Given the description of an element on the screen output the (x, y) to click on. 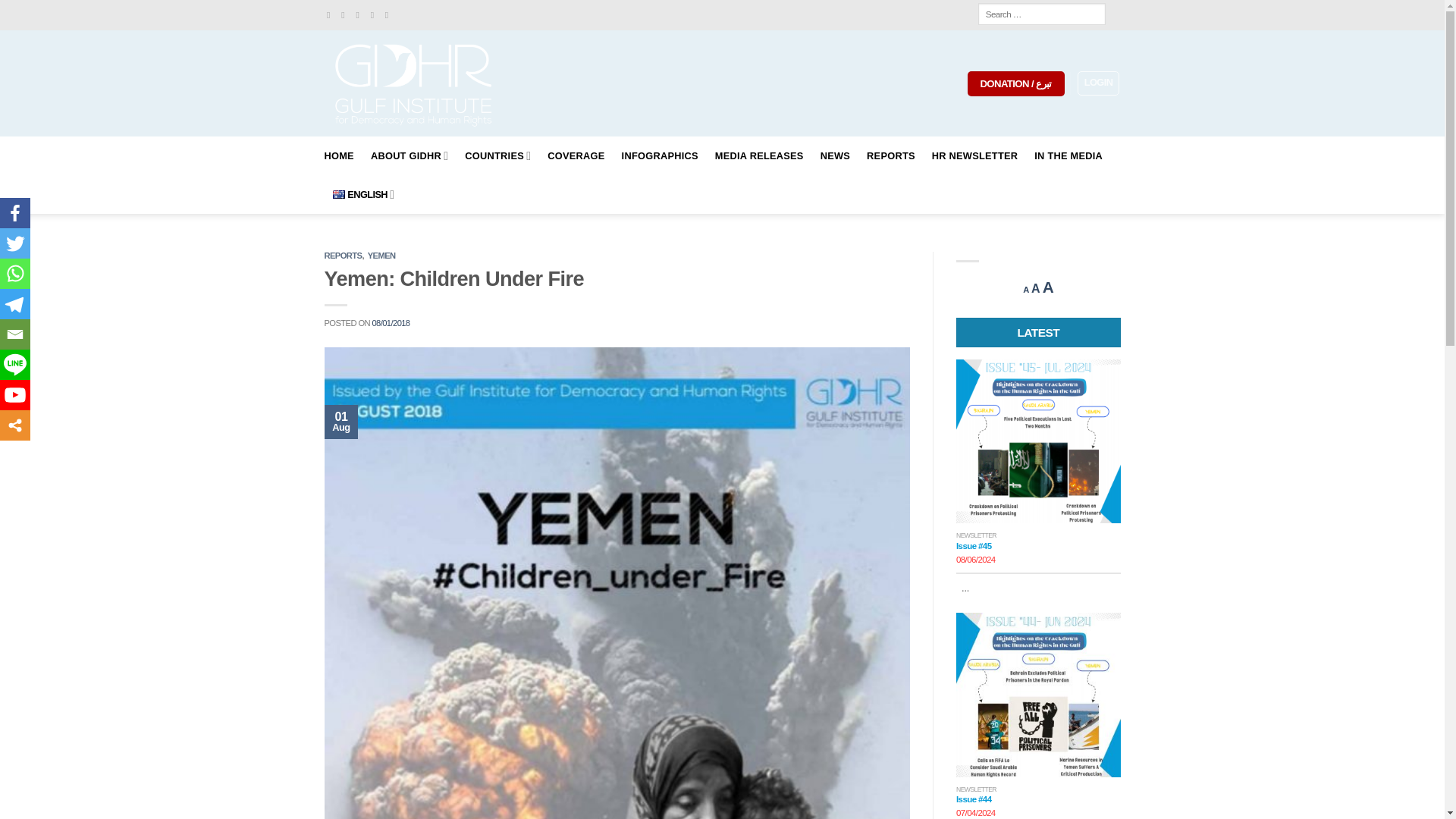
INFOGRAPHICS (659, 155)
REPORTS (890, 155)
HR NEWSLETTER (974, 155)
ENGLISH (362, 194)
YEMEN (382, 255)
COUNTRIES (497, 155)
ABOUT GIDHR (409, 155)
Submit (66, 11)
English (337, 194)
IN THE MEDIA (1067, 155)
MEDIA RELEASES (758, 155)
COVERAGE (575, 155)
REPORTS (343, 255)
LOGIN (1098, 83)
